Given the description of an element on the screen output the (x, y) to click on. 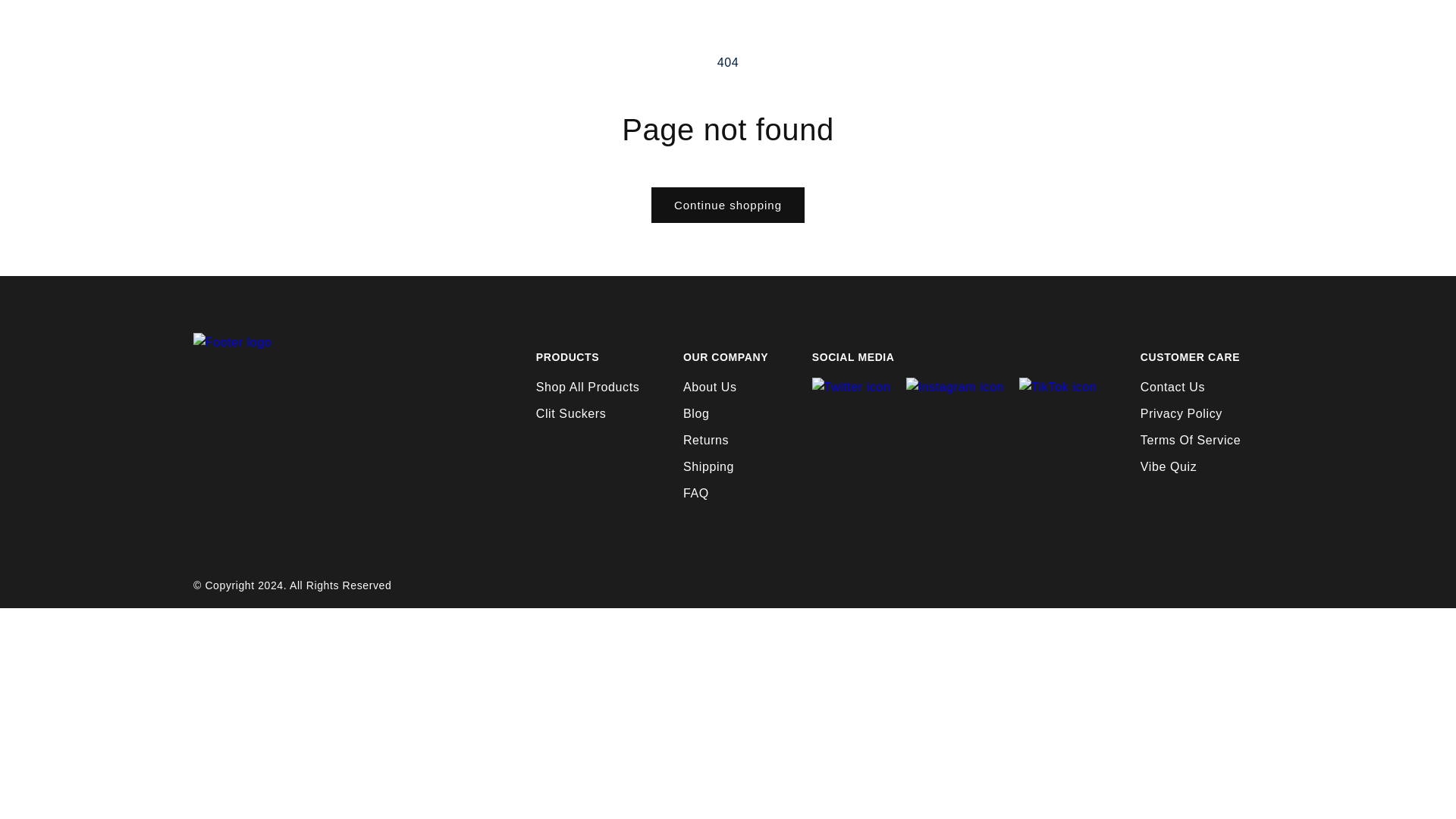
FAQ (695, 492)
Shipping (707, 466)
Terms Of Service (1190, 440)
Contact Us (1172, 386)
Returns (705, 440)
Skip to content (45, 17)
Continue shopping (727, 204)
Vibe Quiz (1168, 466)
Privacy Policy (1181, 413)
Shop All Products (587, 386)
Blog (695, 413)
Clit Suckers (571, 413)
About Us (709, 386)
